Given the description of an element on the screen output the (x, y) to click on. 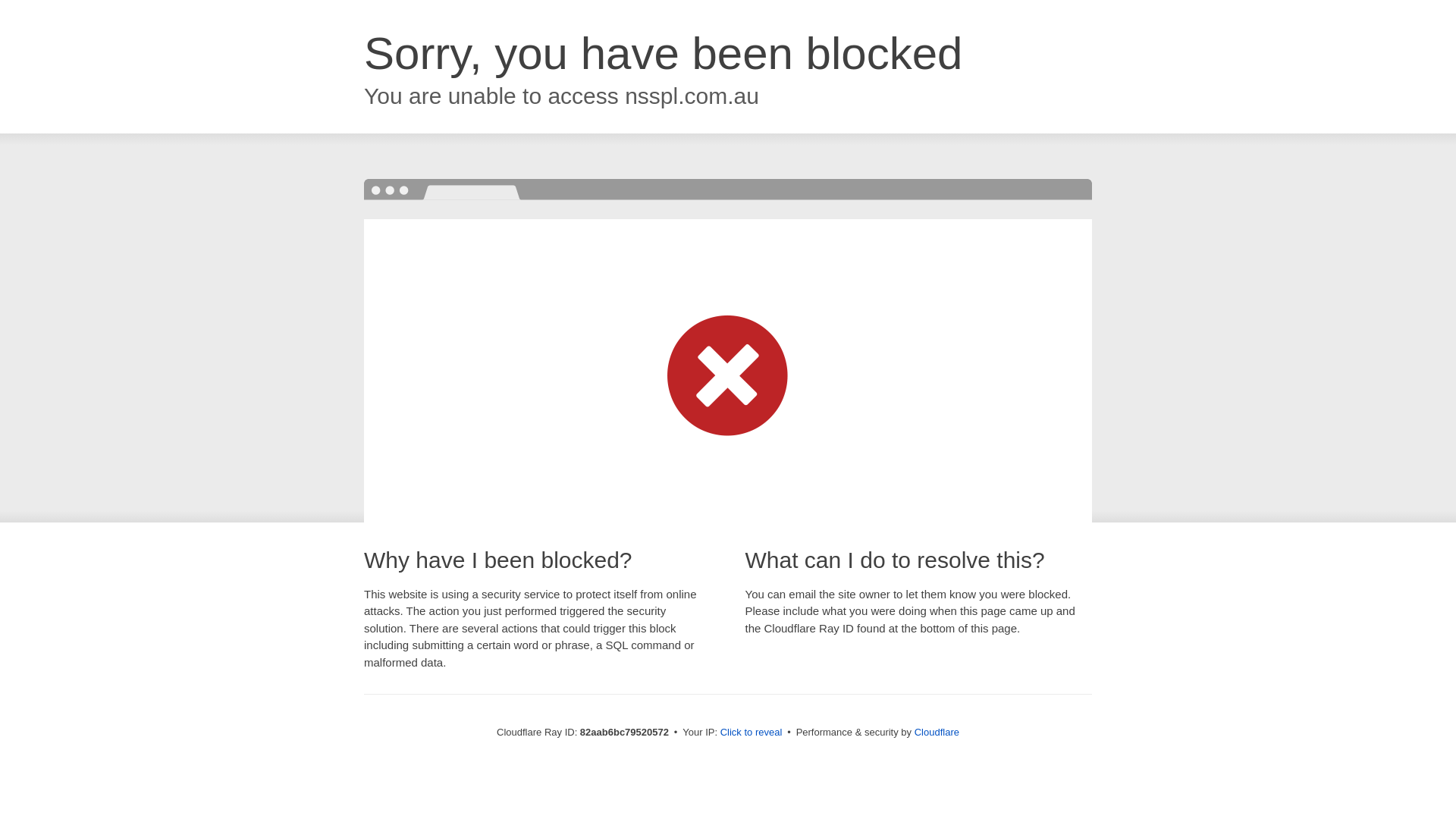
Cloudflare Element type: text (936, 731)
Click to reveal Element type: text (751, 732)
